Given the description of an element on the screen output the (x, y) to click on. 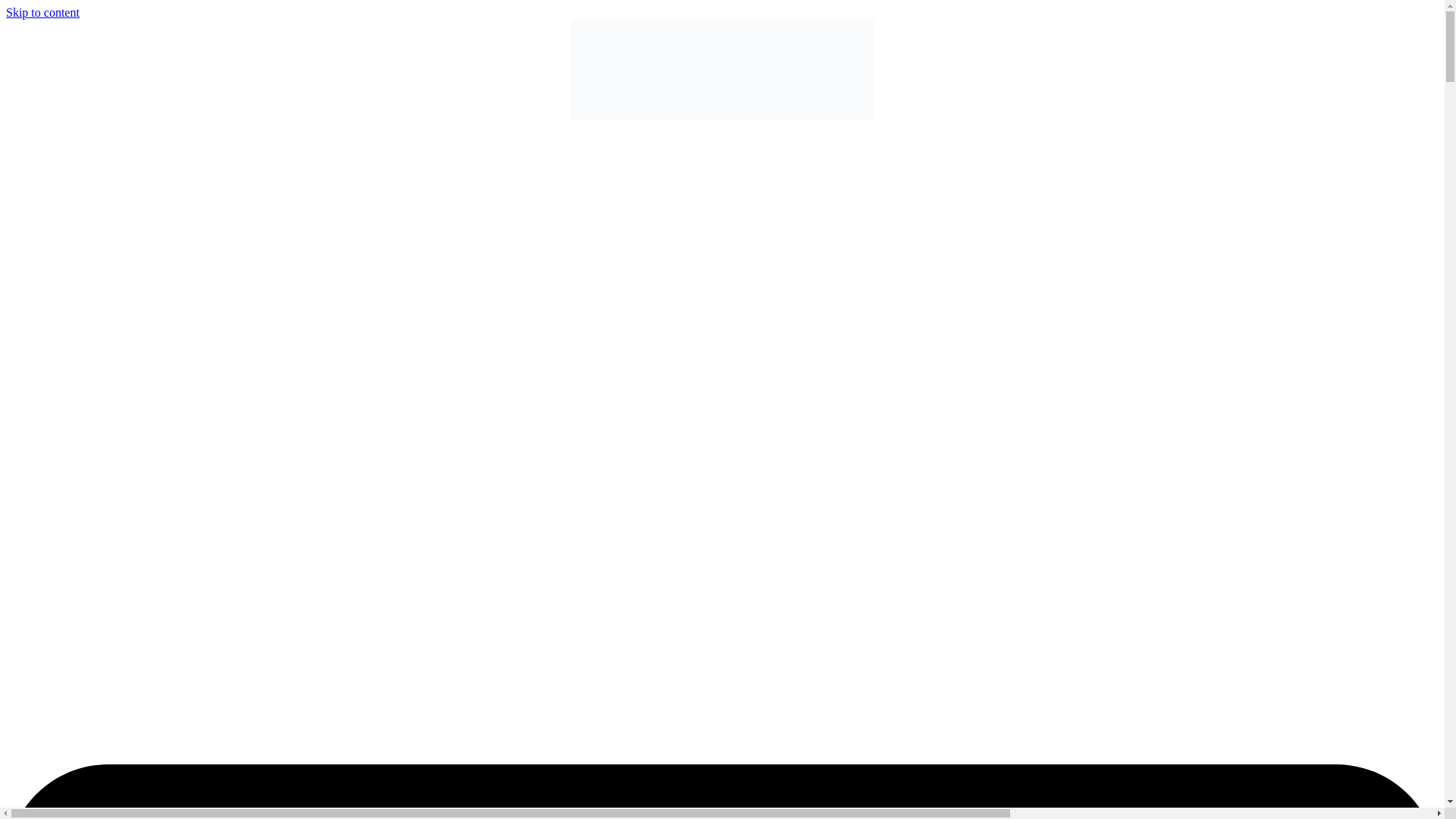
Skip to content (42, 11)
